Given the description of an element on the screen output the (x, y) to click on. 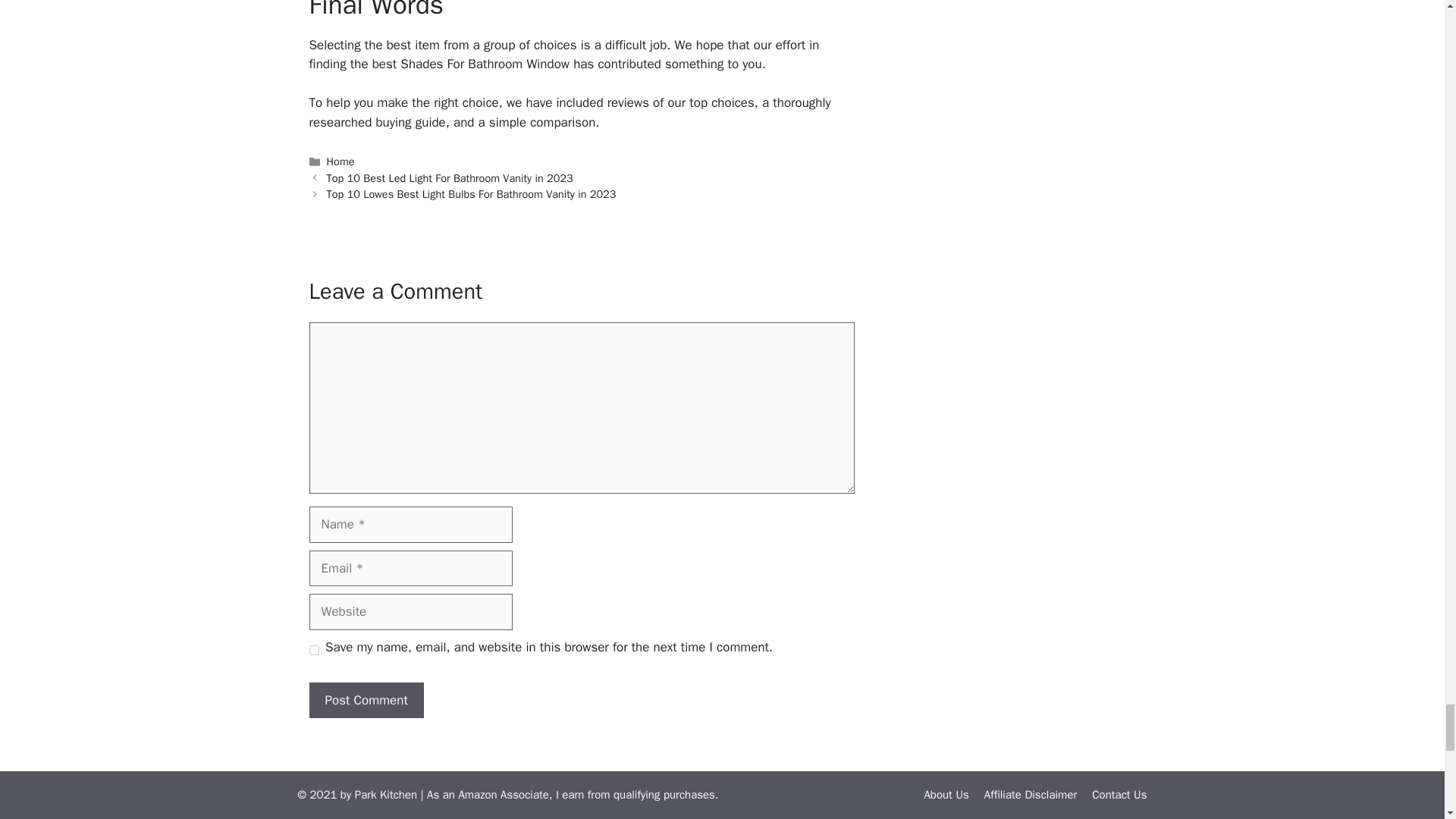
yes (313, 650)
Post Comment (365, 700)
